Given the description of an element on the screen output the (x, y) to click on. 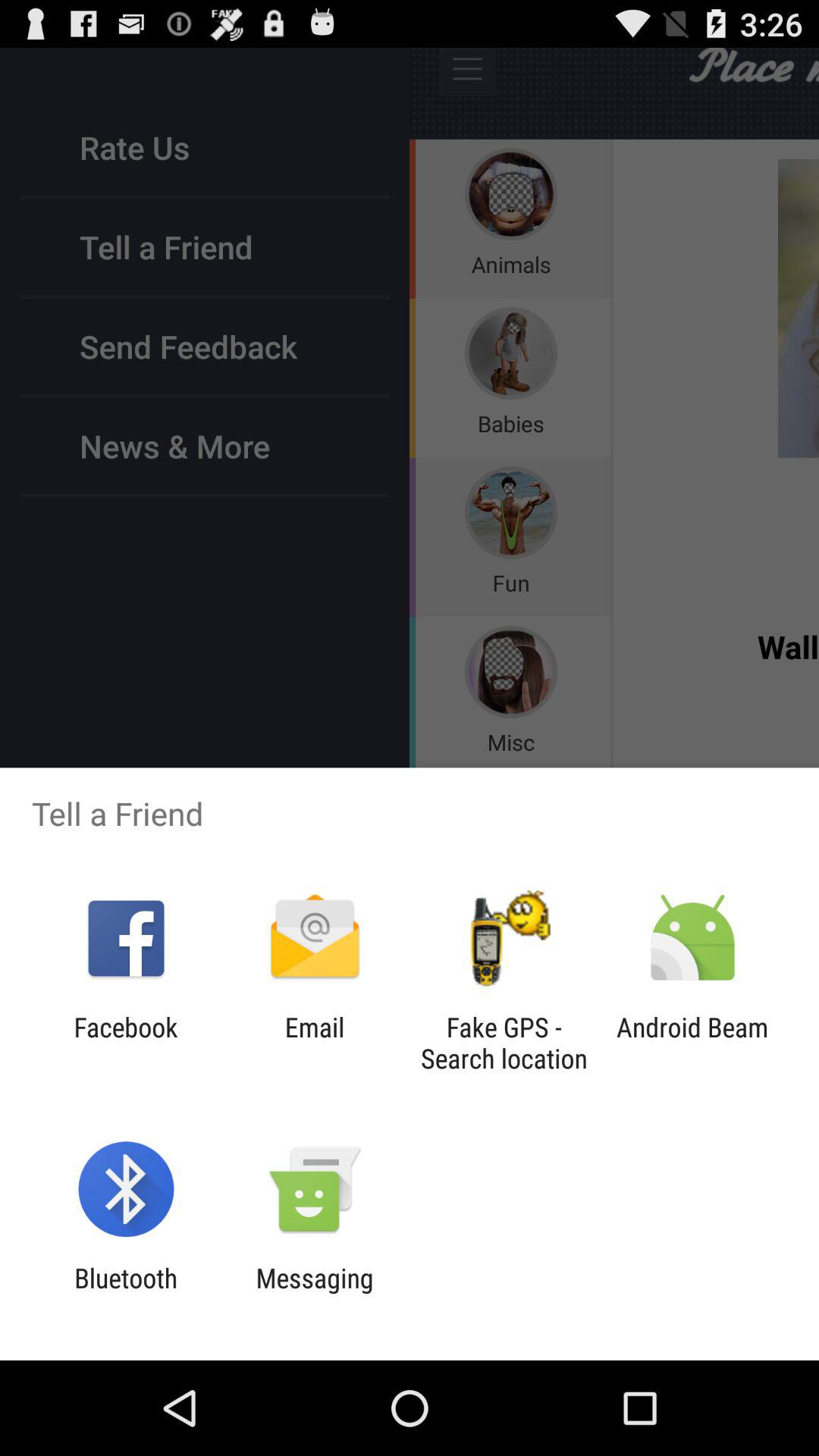
turn off the item to the left of the android beam item (503, 1042)
